Given the description of an element on the screen output the (x, y) to click on. 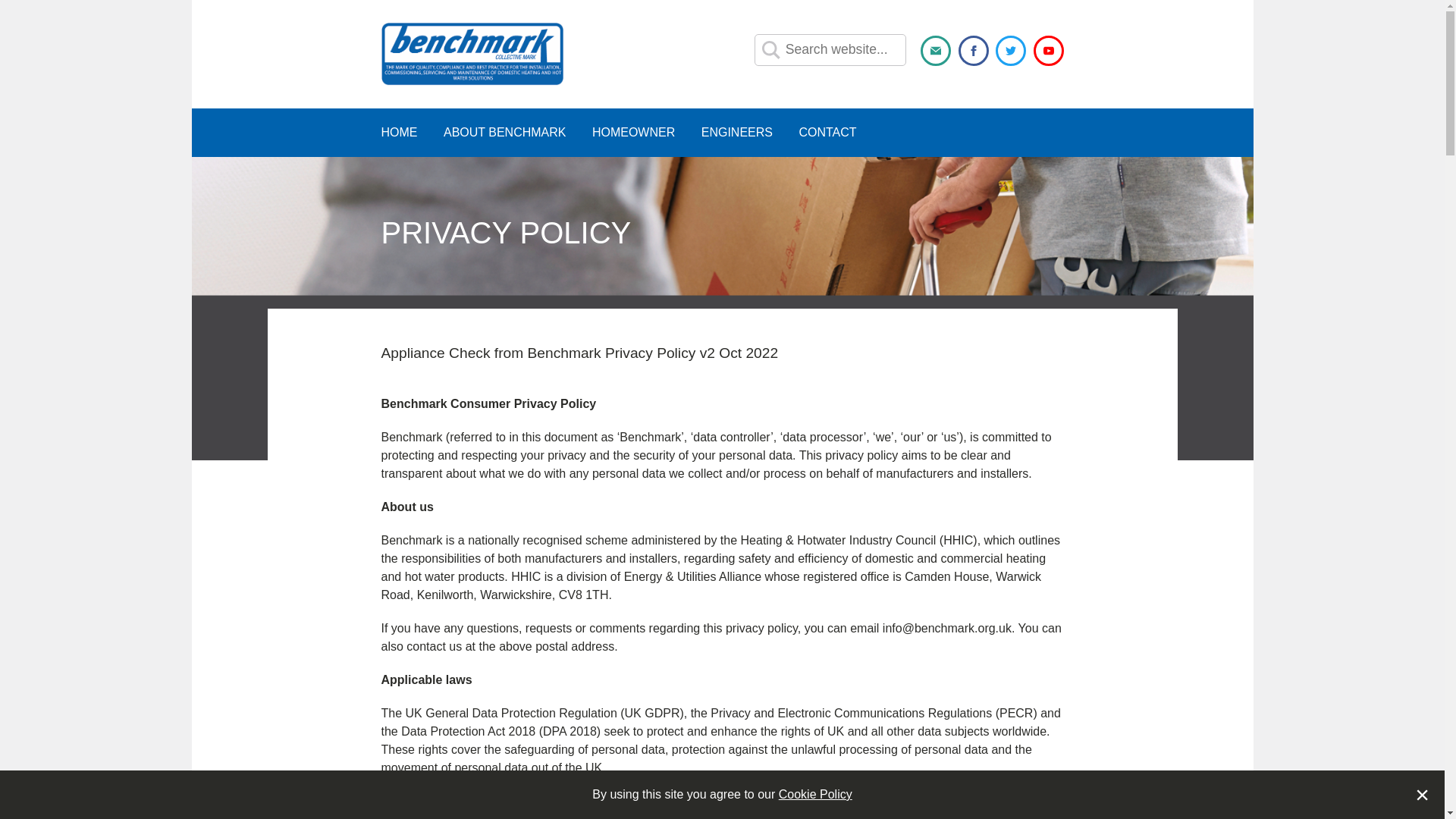
HOME (398, 132)
HOMEOWNER (633, 132)
ENGINEERS (737, 132)
Cookie Policy (814, 793)
ABOUT BENCHMARK (505, 132)
CONTACT (826, 132)
